Given the description of an element on the screen output the (x, y) to click on. 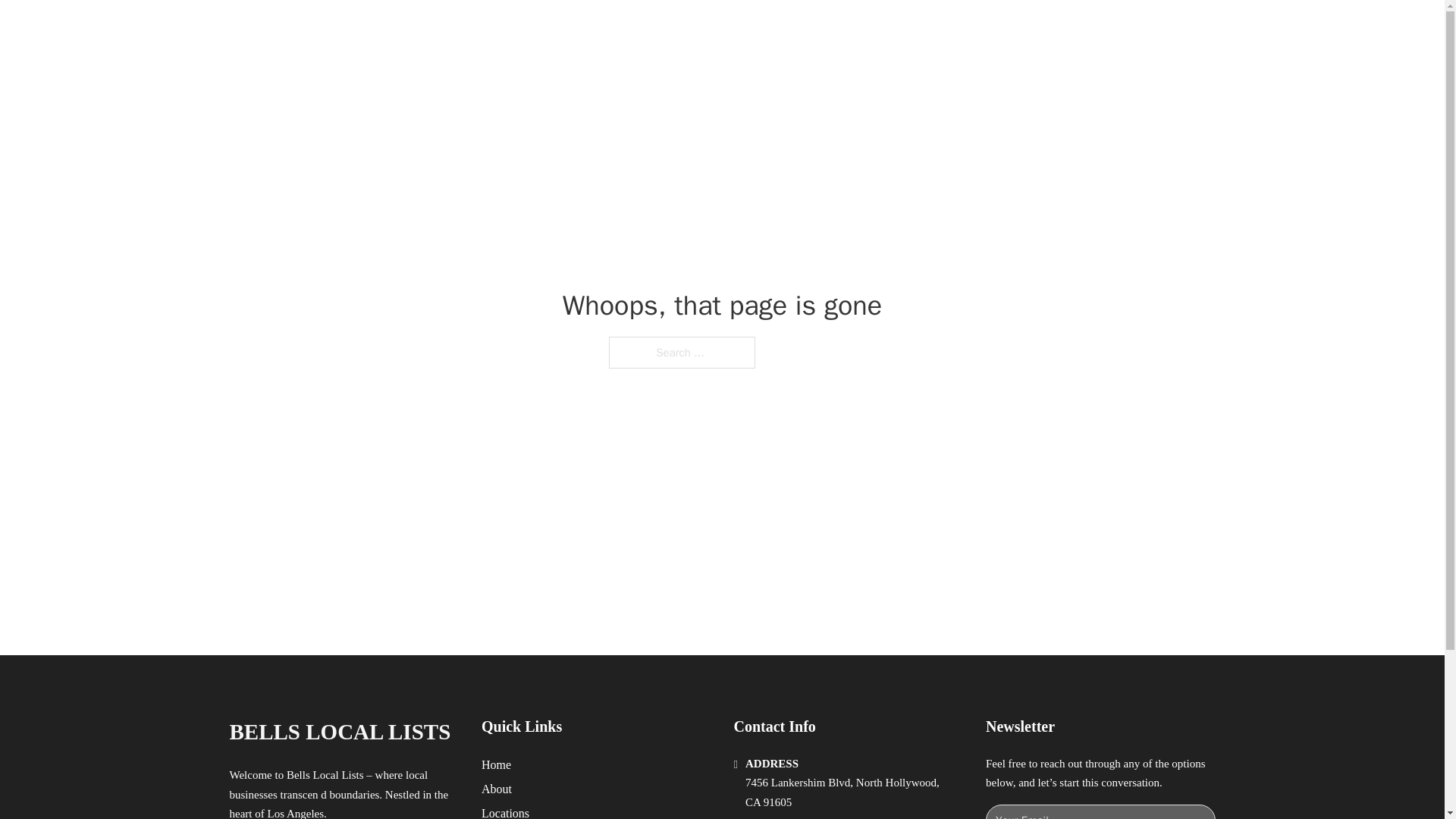
BELLS LOCAL LISTS (409, 28)
BELLS LOCAL LISTS (338, 732)
Locations (505, 811)
About (496, 788)
Home (496, 764)
HOME (919, 29)
LOCATIONS (990, 29)
